Given the description of an element on the screen output the (x, y) to click on. 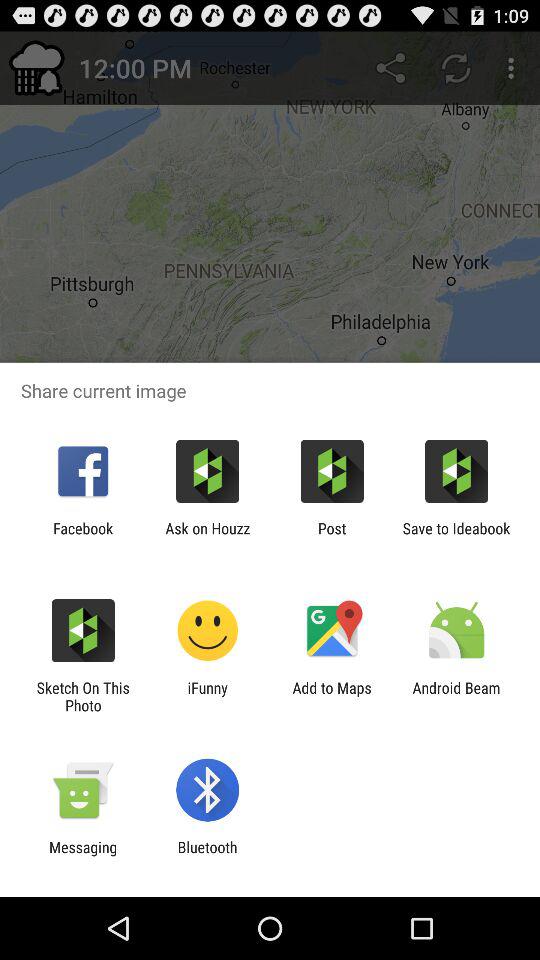
flip until bluetooth item (207, 856)
